Given the description of an element on the screen output the (x, y) to click on. 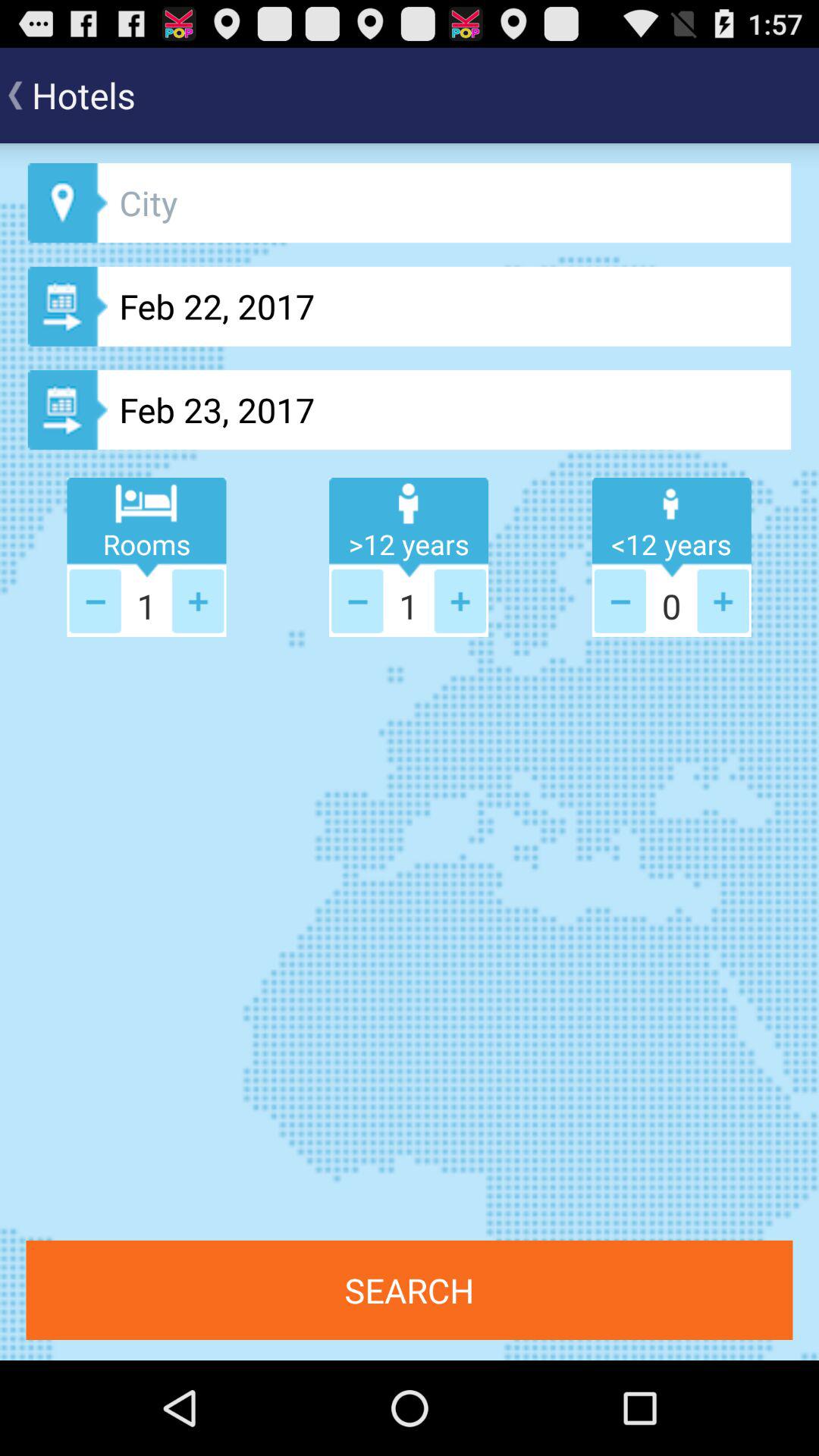
city map button (409, 202)
